Given the description of an element on the screen output the (x, y) to click on. 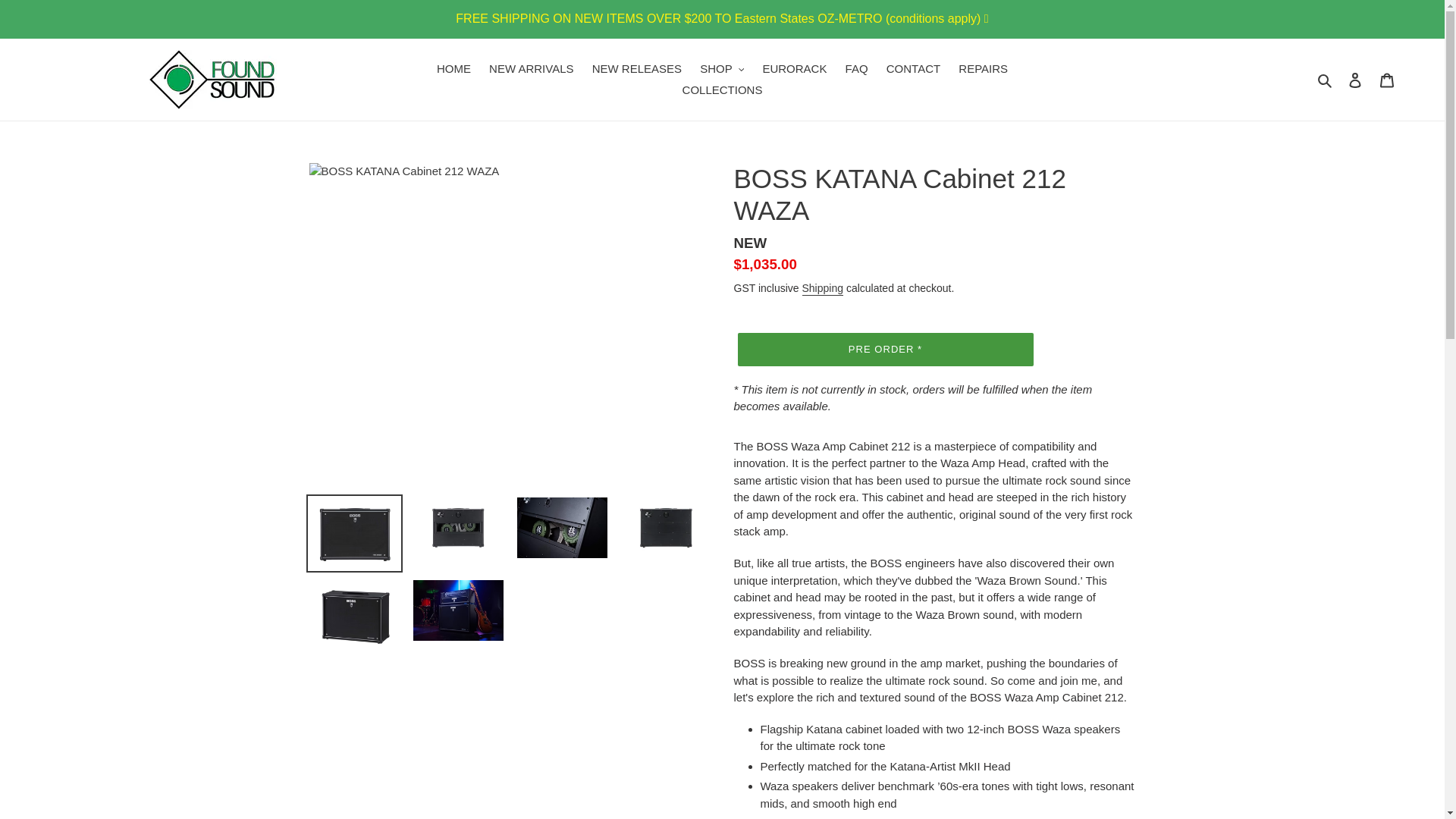
FAQ (857, 68)
COLLECTIONS (722, 90)
Log in (1355, 79)
NEW ARRIVALS (530, 68)
REPAIRS (982, 68)
CONTACT (913, 68)
SHOP (722, 68)
NEW RELEASES (636, 68)
Cart (1387, 79)
Search (1326, 79)
